Given the description of an element on the screen output the (x, y) to click on. 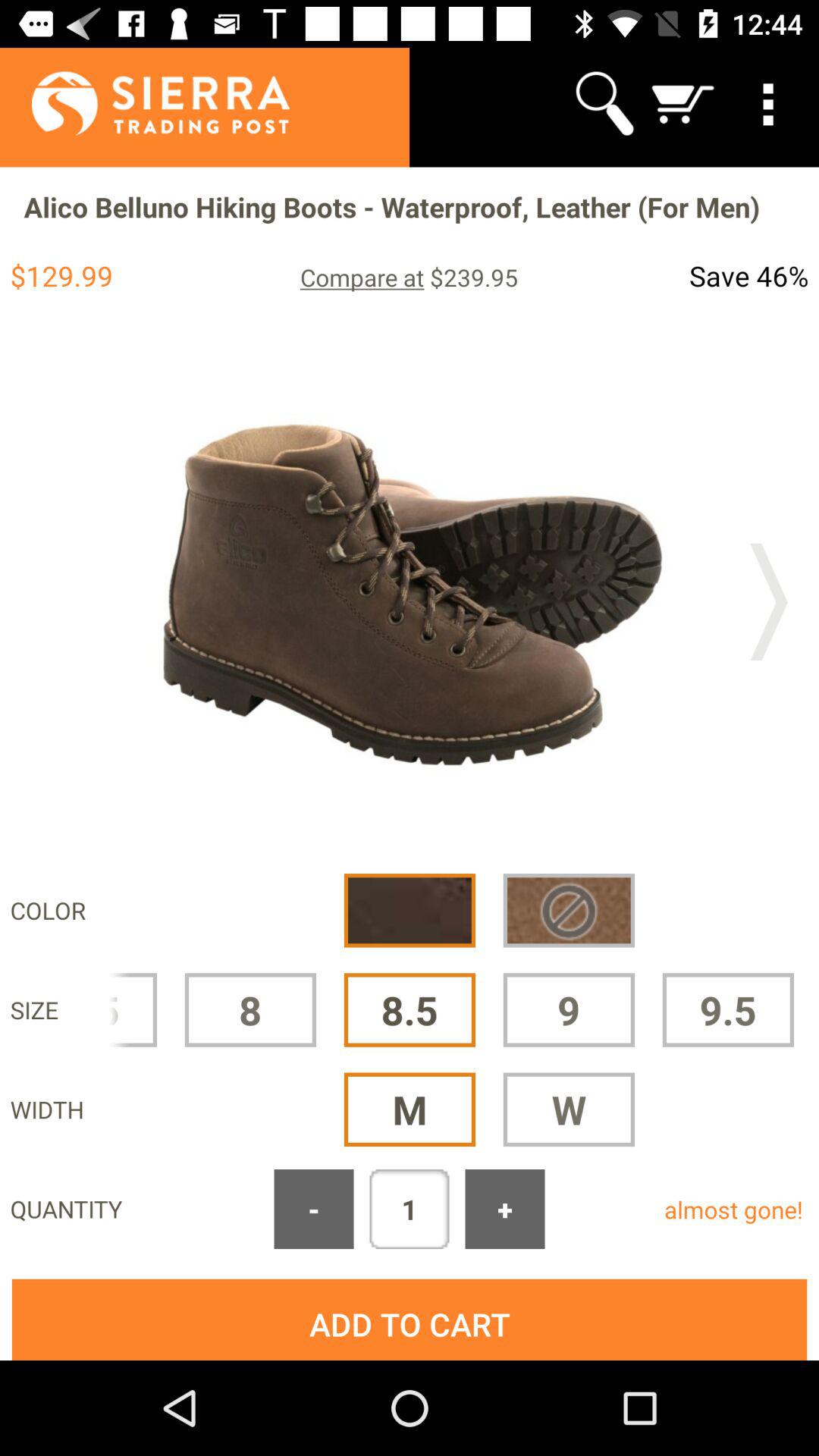
press the app below alico belluno hiking item (409, 276)
